Given the description of an element on the screen output the (x, y) to click on. 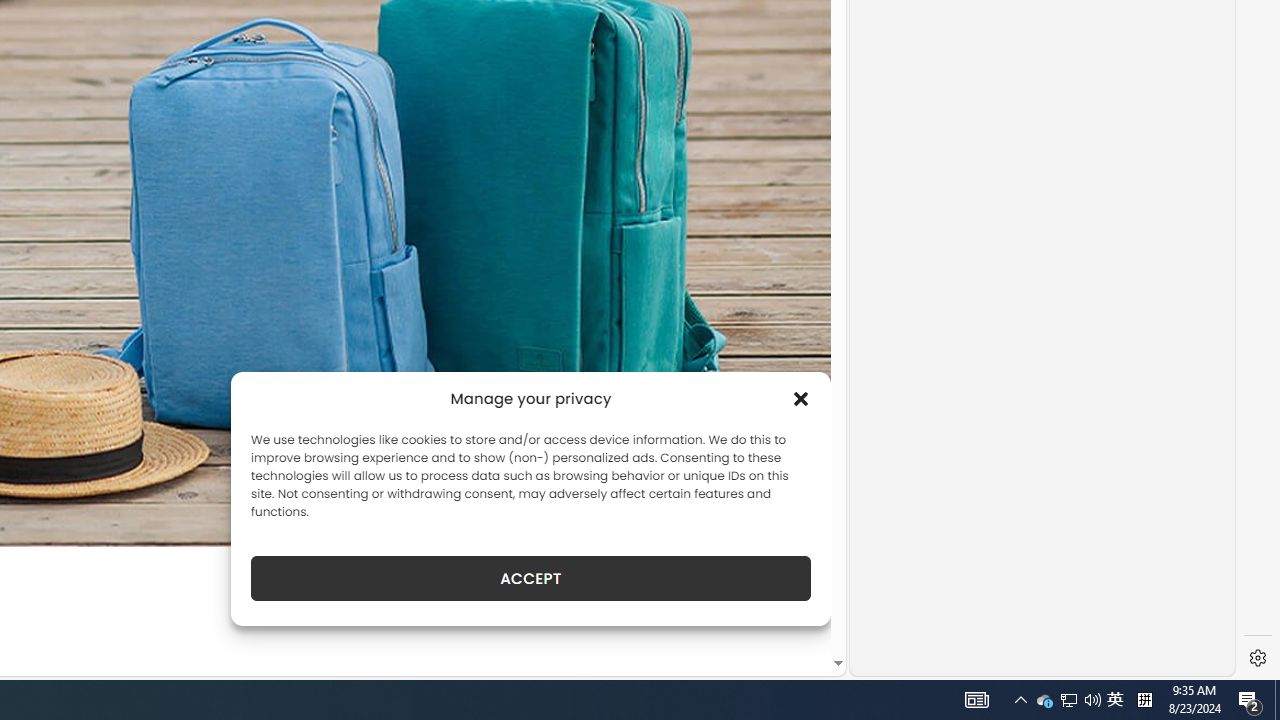
Class: cmplz-close (801, 398)
ACCEPT (530, 578)
